Given the description of an element on the screen output the (x, y) to click on. 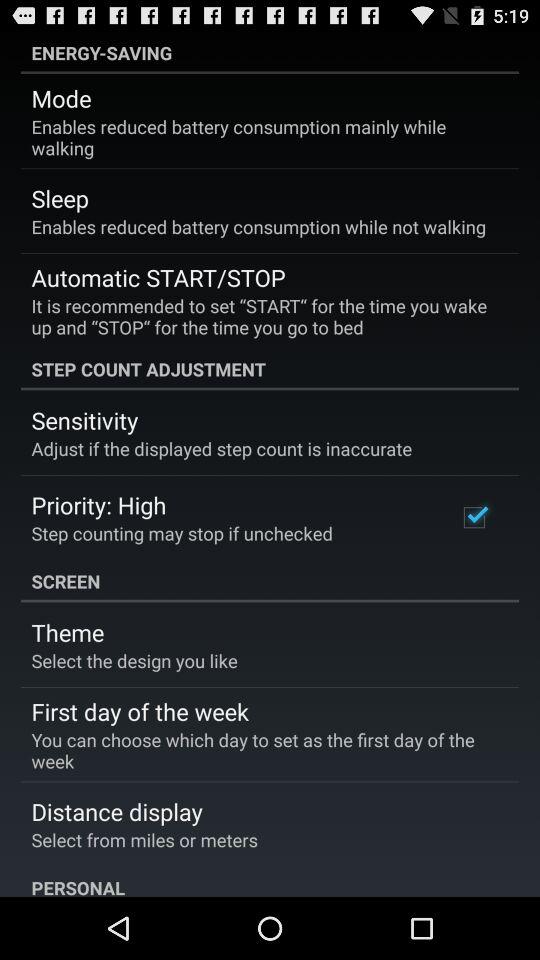
open you can choose item (263, 750)
